Given the description of an element on the screen output the (x, y) to click on. 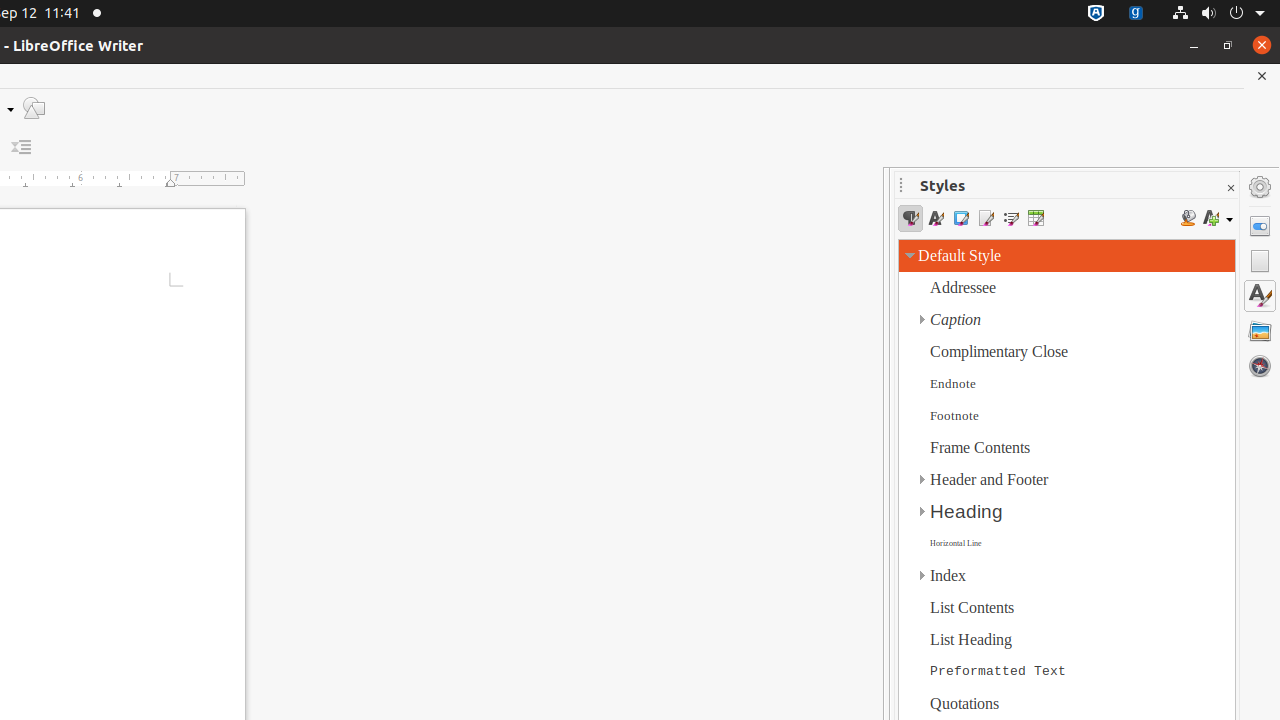
Paragraph Styles Element type: push-button (910, 218)
Styles actions Element type: push-button (1218, 218)
List Styles Element type: push-button (1010, 218)
System Element type: menu (1218, 13)
